Given the description of an element on the screen output the (x, y) to click on. 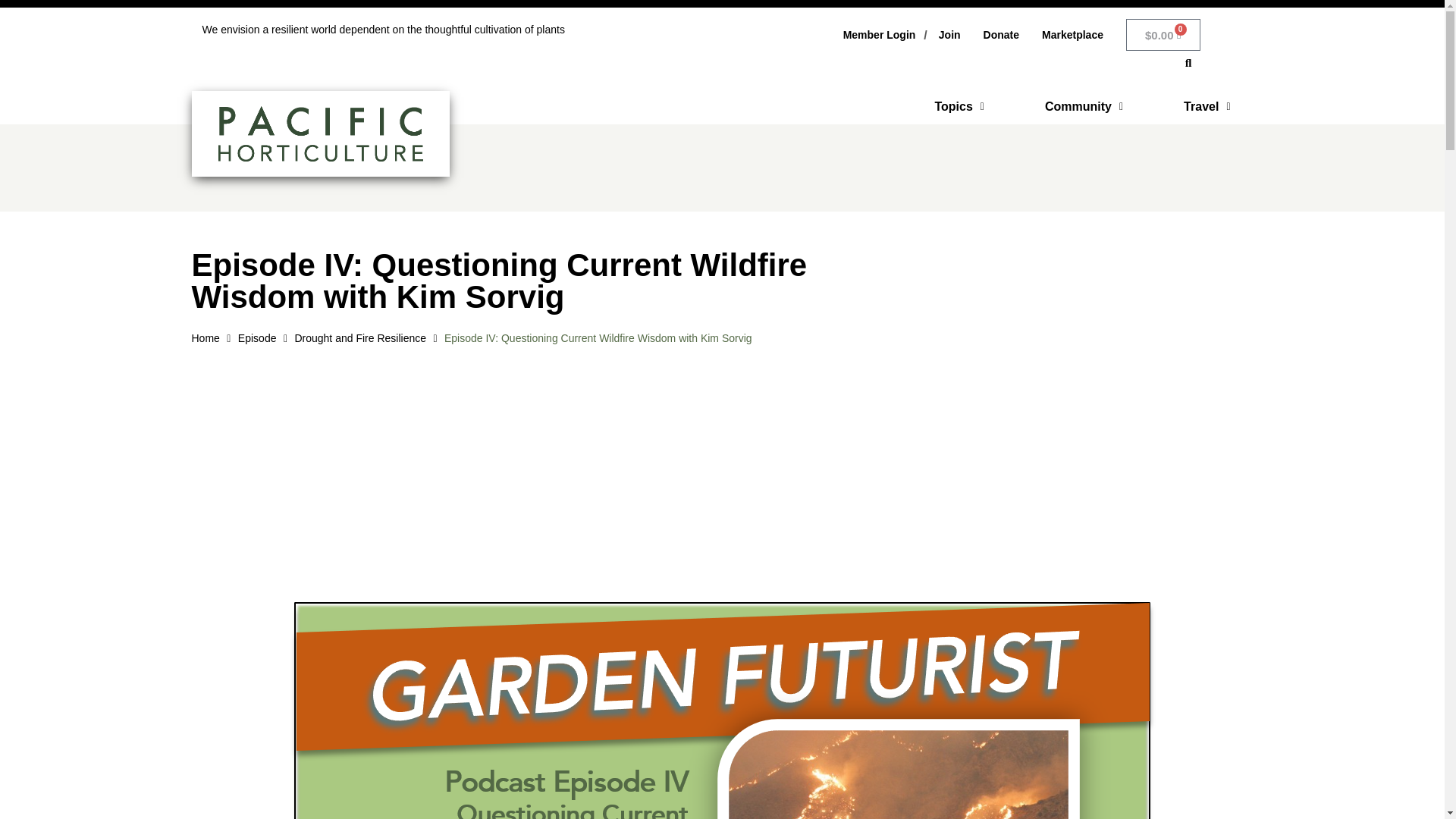
Donate (1001, 34)
Marketplace (1072, 34)
Home (204, 338)
Member Login (879, 34)
Drought and Fire Resilience (360, 338)
Travel (1206, 106)
Topics (959, 106)
Community (1083, 106)
Episode (257, 338)
Join (949, 34)
